Given the description of an element on the screen output the (x, y) to click on. 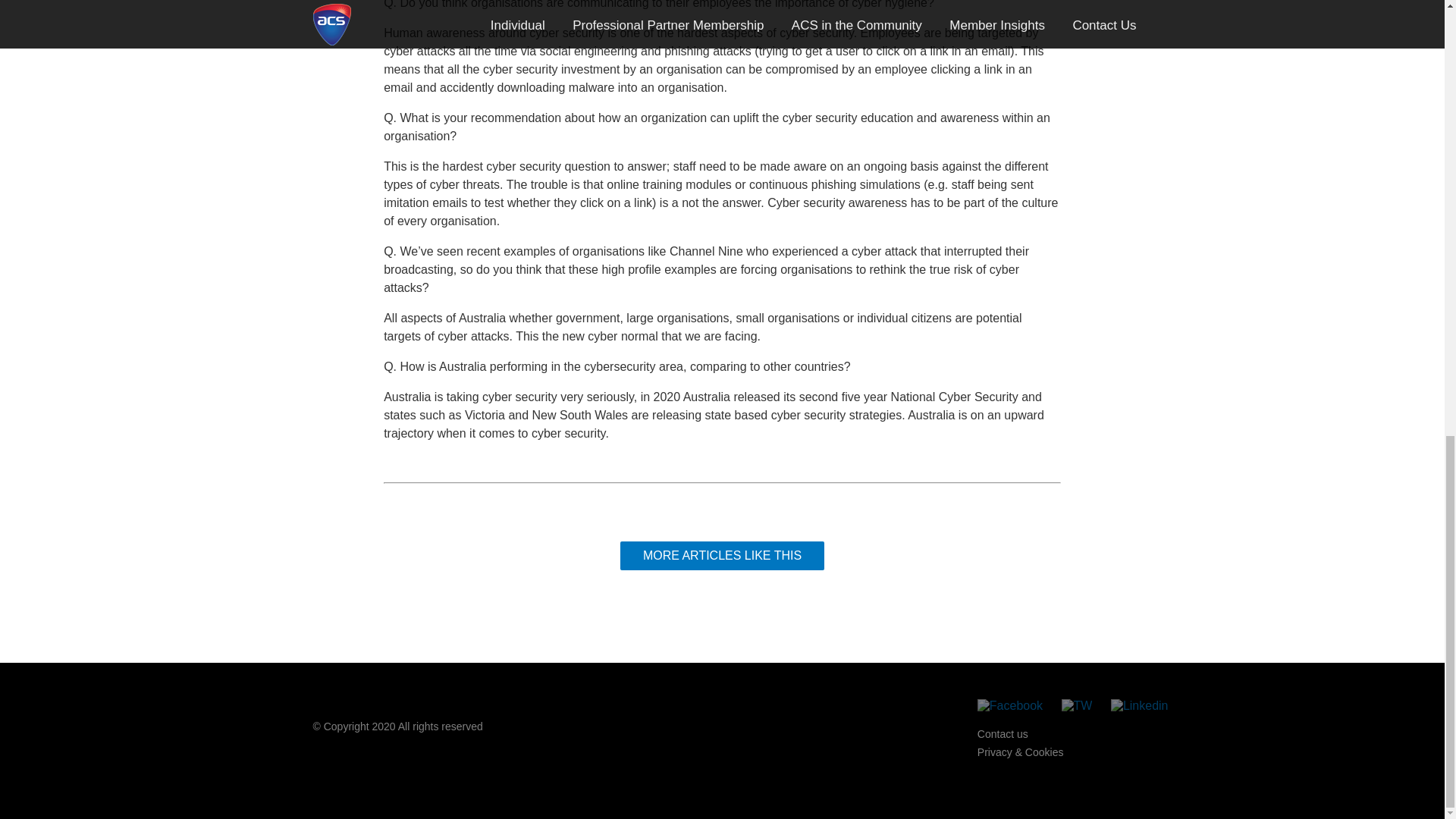
MORE ARTICLES LIKE THIS (722, 555)
Contact us (1001, 734)
More Articles Like This (722, 555)
